Given the description of an element on the screen output the (x, y) to click on. 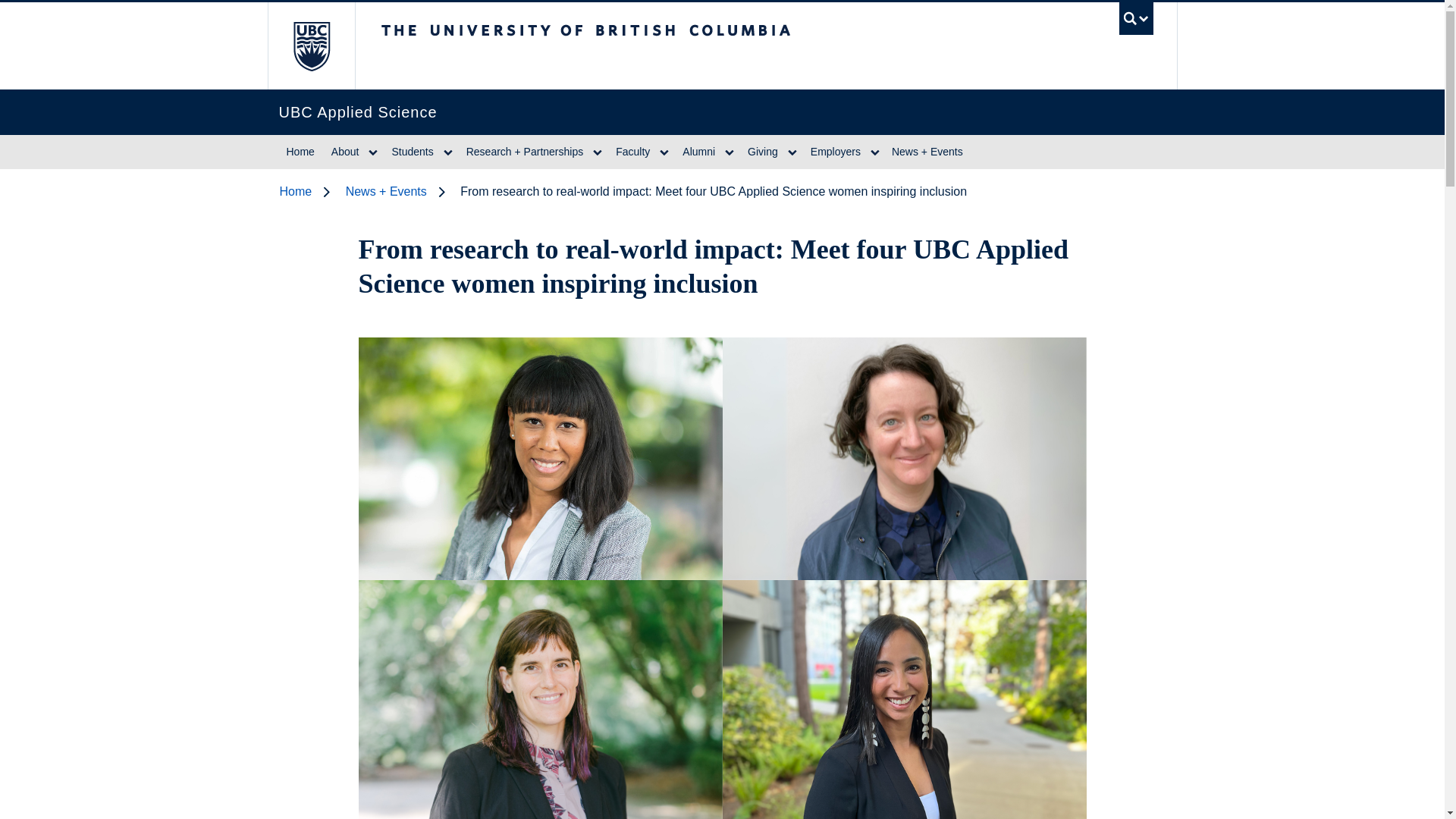
Home (300, 151)
UBC Applied Science (701, 112)
Faculty (631, 151)
Alumni (696, 151)
Employers (834, 151)
The University of British Columbia (699, 37)
Home (307, 191)
Students (409, 151)
Giving (760, 151)
UBC Search (1136, 21)
